Given the description of an element on the screen output the (x, y) to click on. 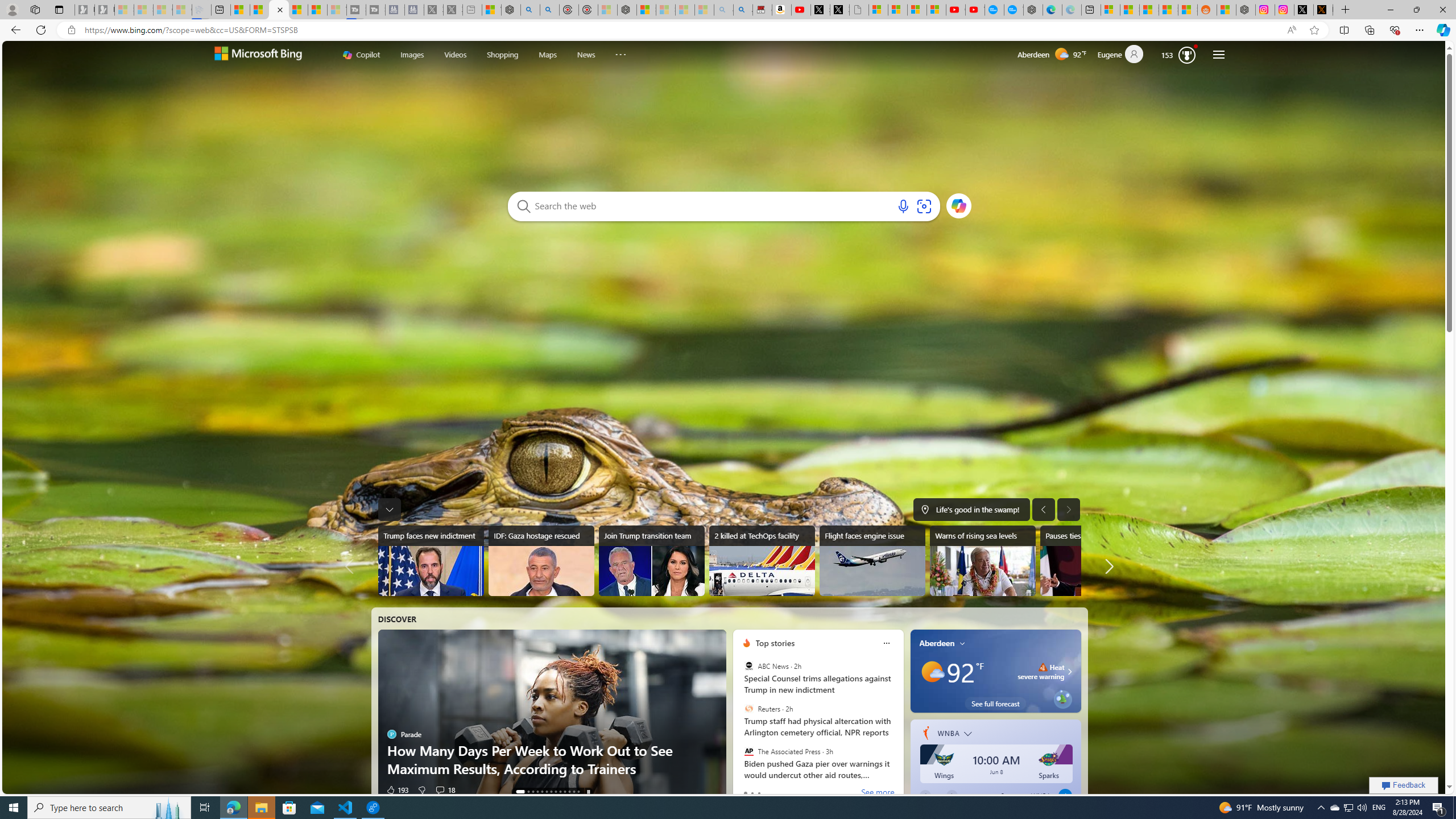
poe - Search (529, 9)
Images (411, 54)
See full forecast (994, 703)
AutomationID: tab-4 (542, 791)
Start the conversation (435, 789)
Learn more (958, 205)
Gloom - YouTube (954, 9)
Click to see more information (1067, 671)
Shanghai, China weather forecast | Microsoft Weather (1129, 9)
Heat - Severe Heat severe warning (1040, 671)
More news (1106, 566)
